Given the description of an element on the screen output the (x, y) to click on. 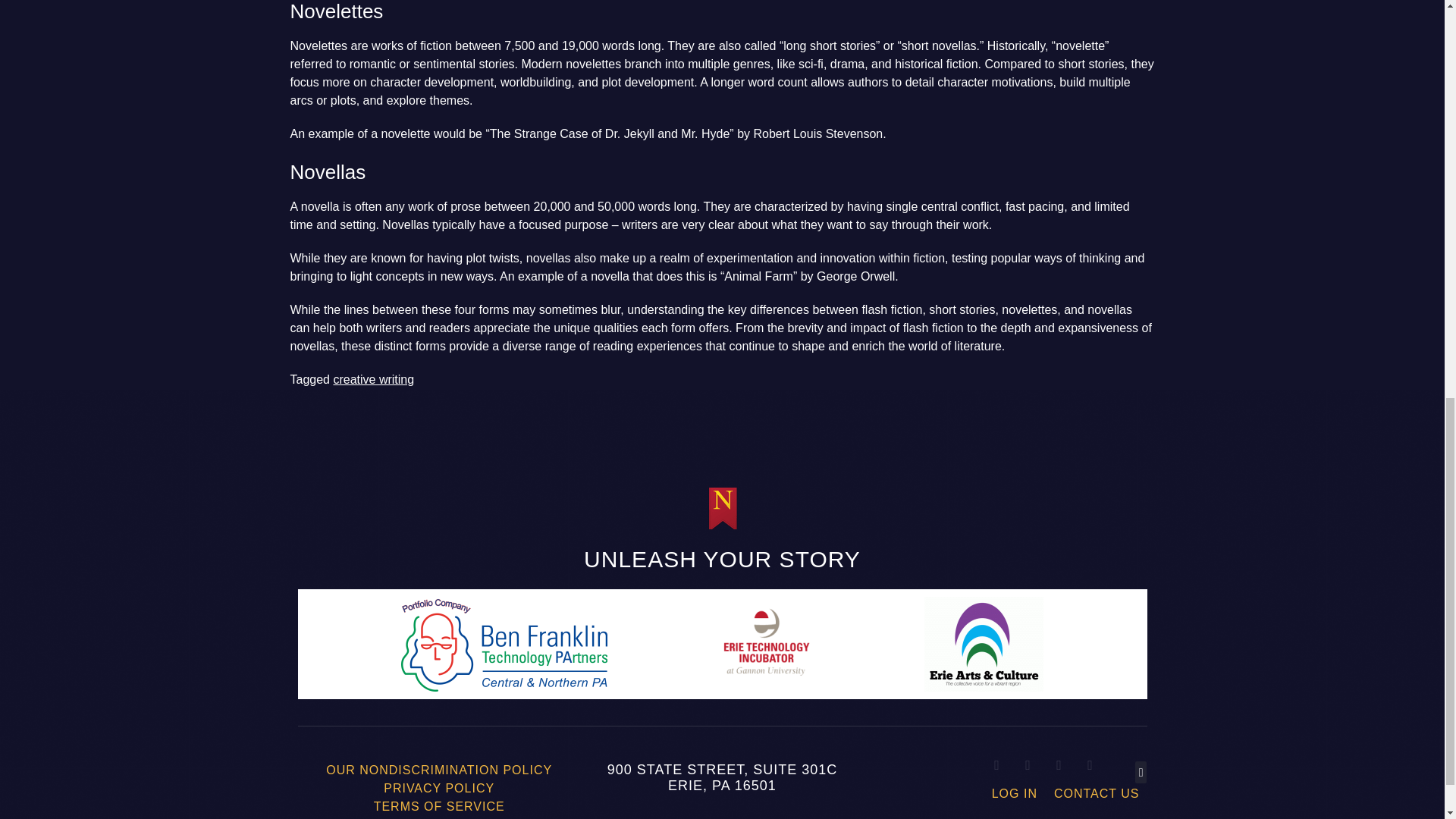
erietechincubator (766, 644)
TERMS OF SERVICE (438, 806)
CONTACT US (1097, 793)
OUR NONDISCRIMINATION POLICY (439, 770)
creative writing (373, 379)
LOG IN (1013, 793)
PRIVACY POLICY (438, 788)
